Given the description of an element on the screen output the (x, y) to click on. 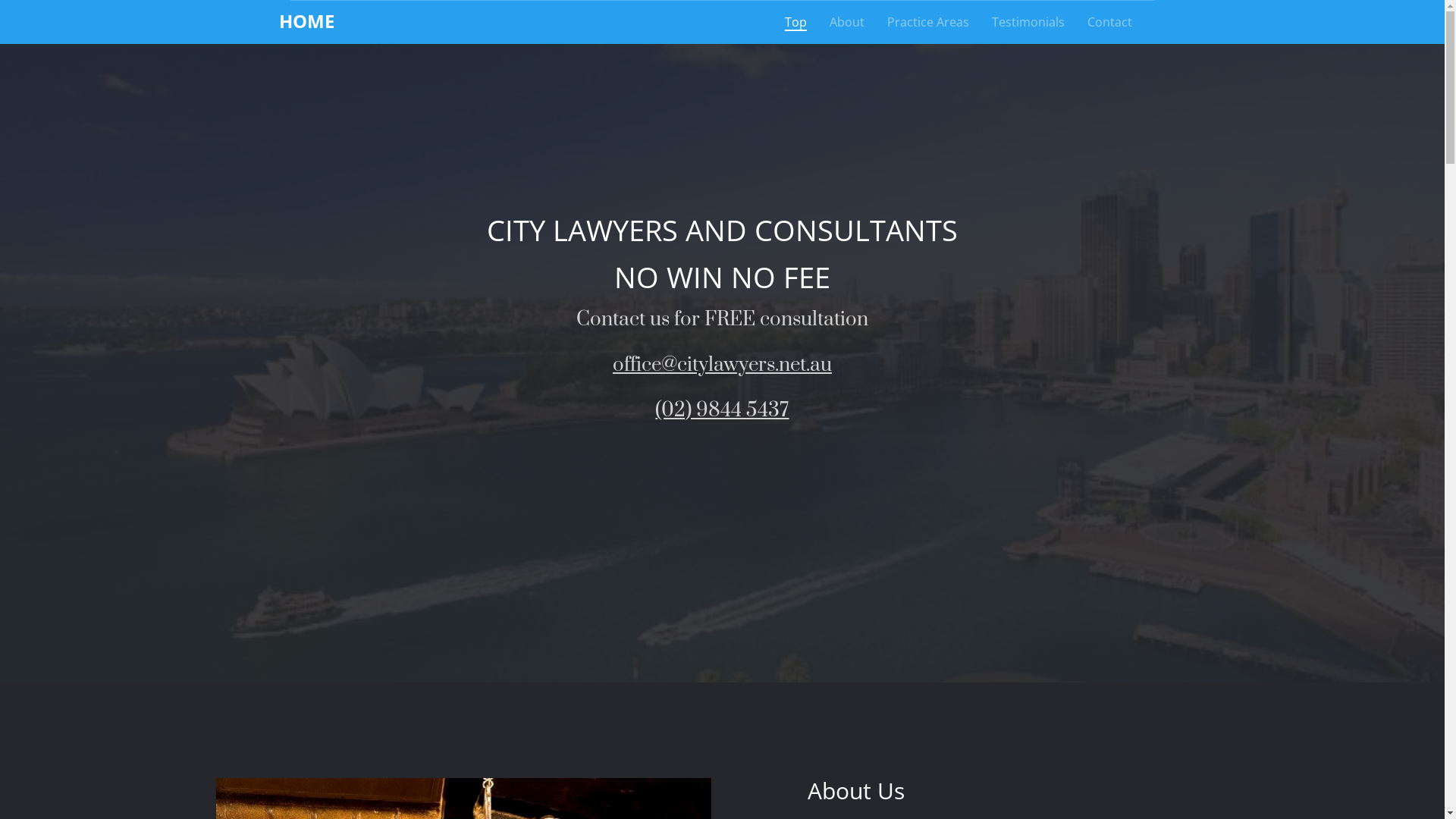
Contact Element type: text (1108, 21)
HOME Element type: text (312, 20)
office@citylawyers.net.au Element type: text (721, 364)
(02) 9844 5437 Element type: text (721, 410)
About Element type: text (846, 21)
Top Element type: text (795, 21)
Practice Areas Element type: text (927, 21)
Testimonials Element type: text (1027, 21)
